Given the description of an element on the screen output the (x, y) to click on. 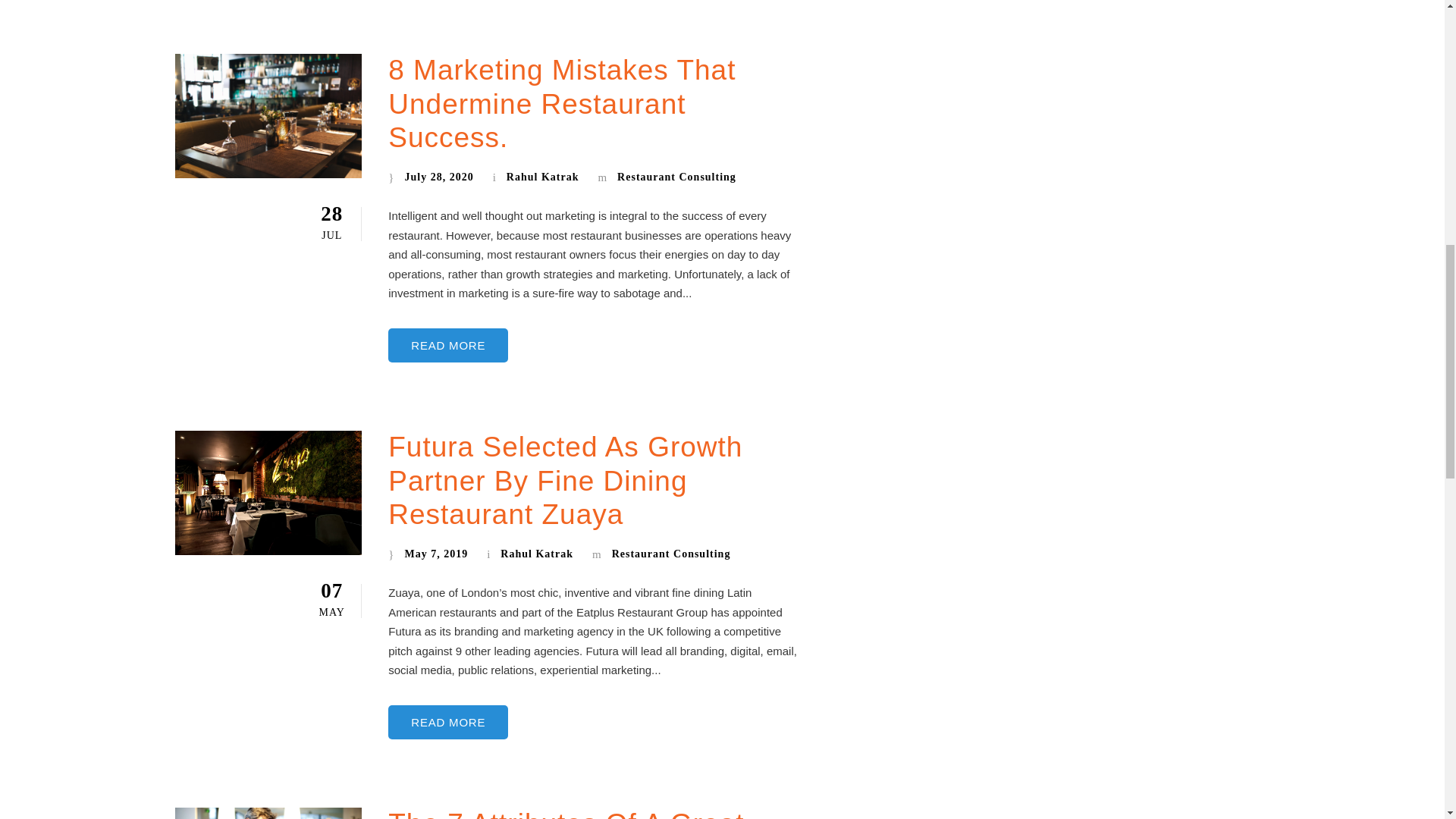
8 Marketing Mistakes That Undermine Restaurant Success. (561, 103)
July 28, 2020 (438, 176)
Rahul Katrak (542, 176)
Posts by Rahul Katrak (536, 553)
Posts by Rahul Katrak (542, 176)
Restaurant Consulting (676, 176)
READ MORE (448, 345)
